Given the description of an element on the screen output the (x, y) to click on. 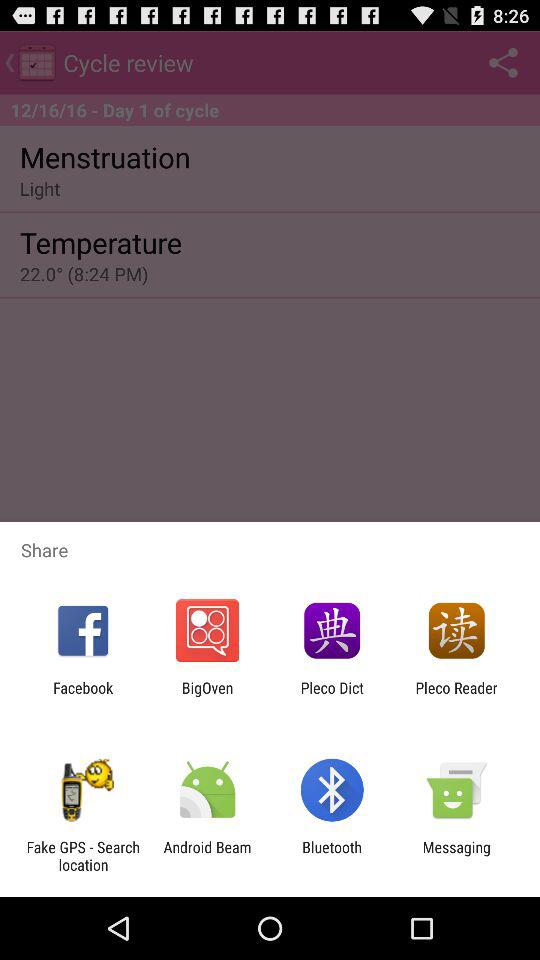
turn on item next to facebook item (207, 696)
